Given the description of an element on the screen output the (x, y) to click on. 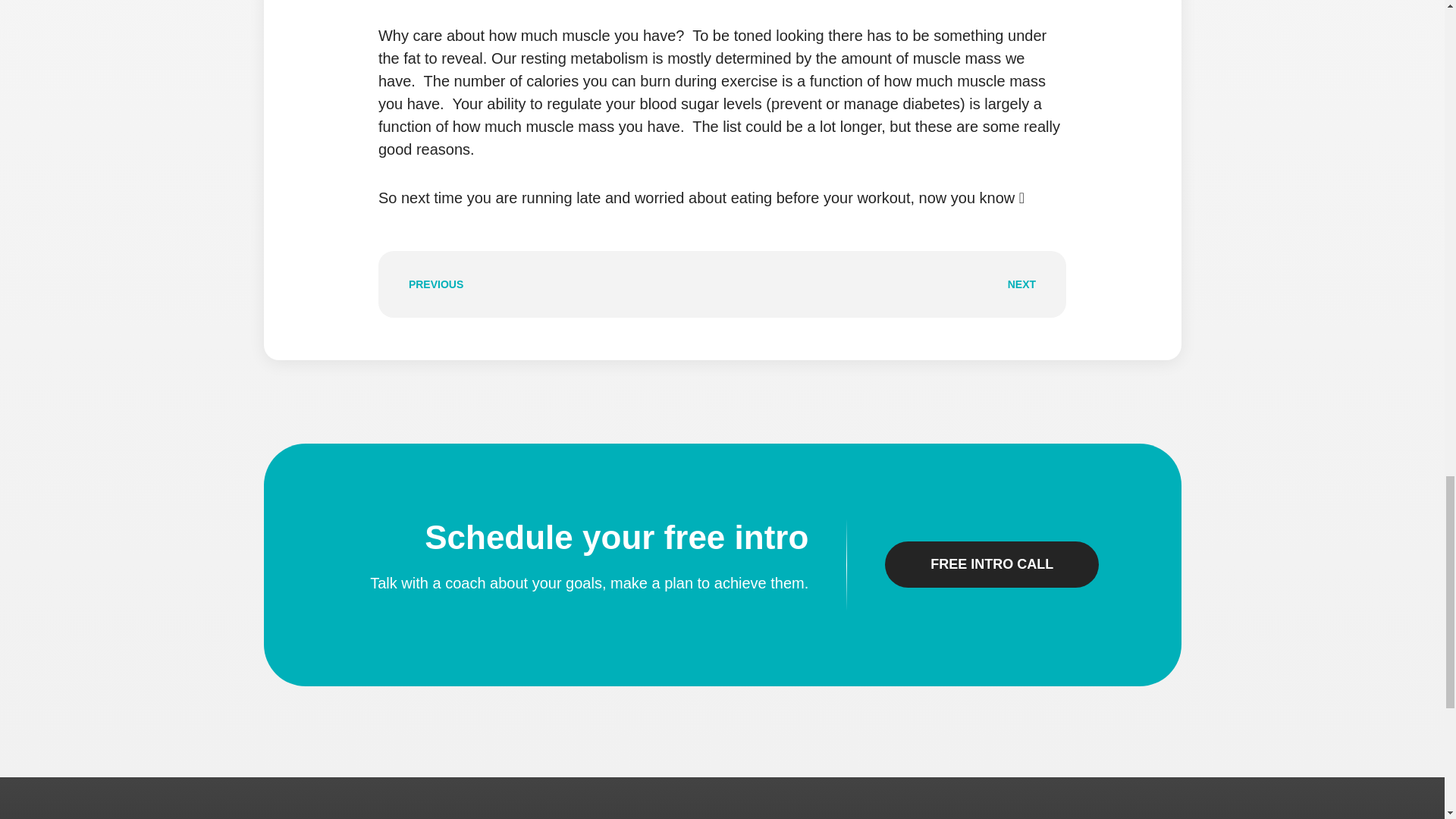
NEXT (884, 284)
PREVIOUS (559, 284)
FREE INTRO CALL (992, 564)
